Given the description of an element on the screen output the (x, y) to click on. 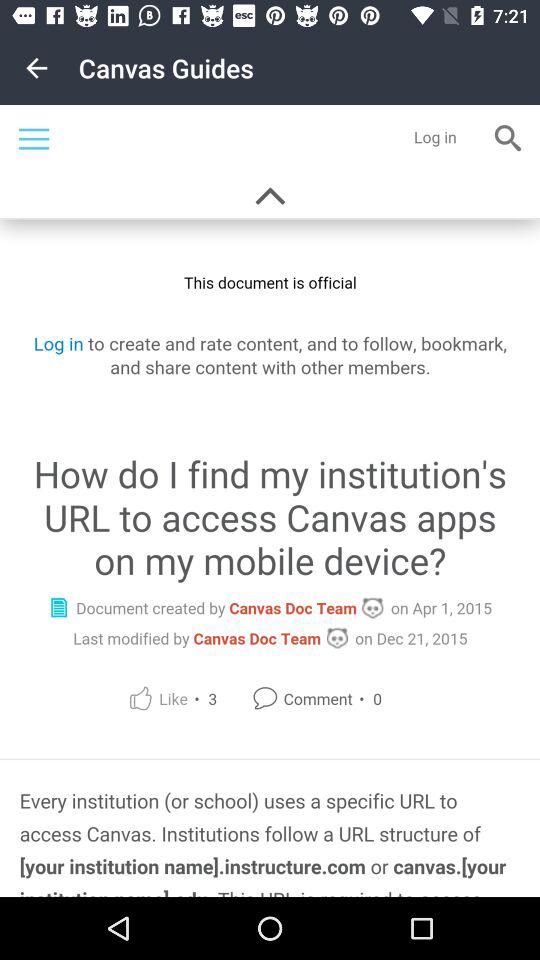
advertisement (270, 501)
